Given the description of an element on the screen output the (x, y) to click on. 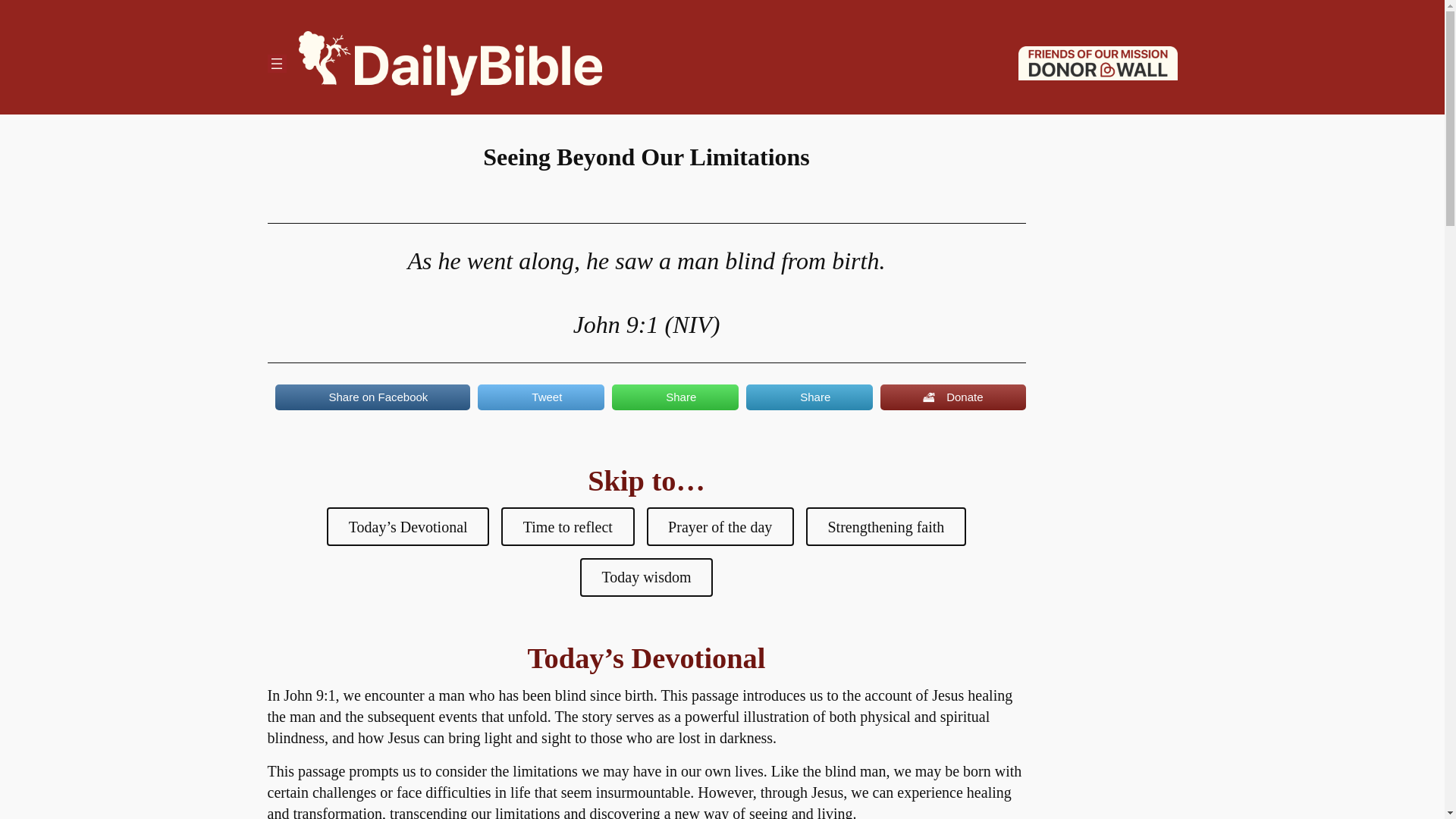
Donate (952, 397)
Share (674, 397)
Tweet (540, 397)
Share on Facebook (372, 397)
Time to reflect (566, 526)
Strengthening faith (886, 526)
Today wisdom (646, 577)
Share (808, 397)
Prayer of the day (719, 526)
